Given the description of an element on the screen output the (x, y) to click on. 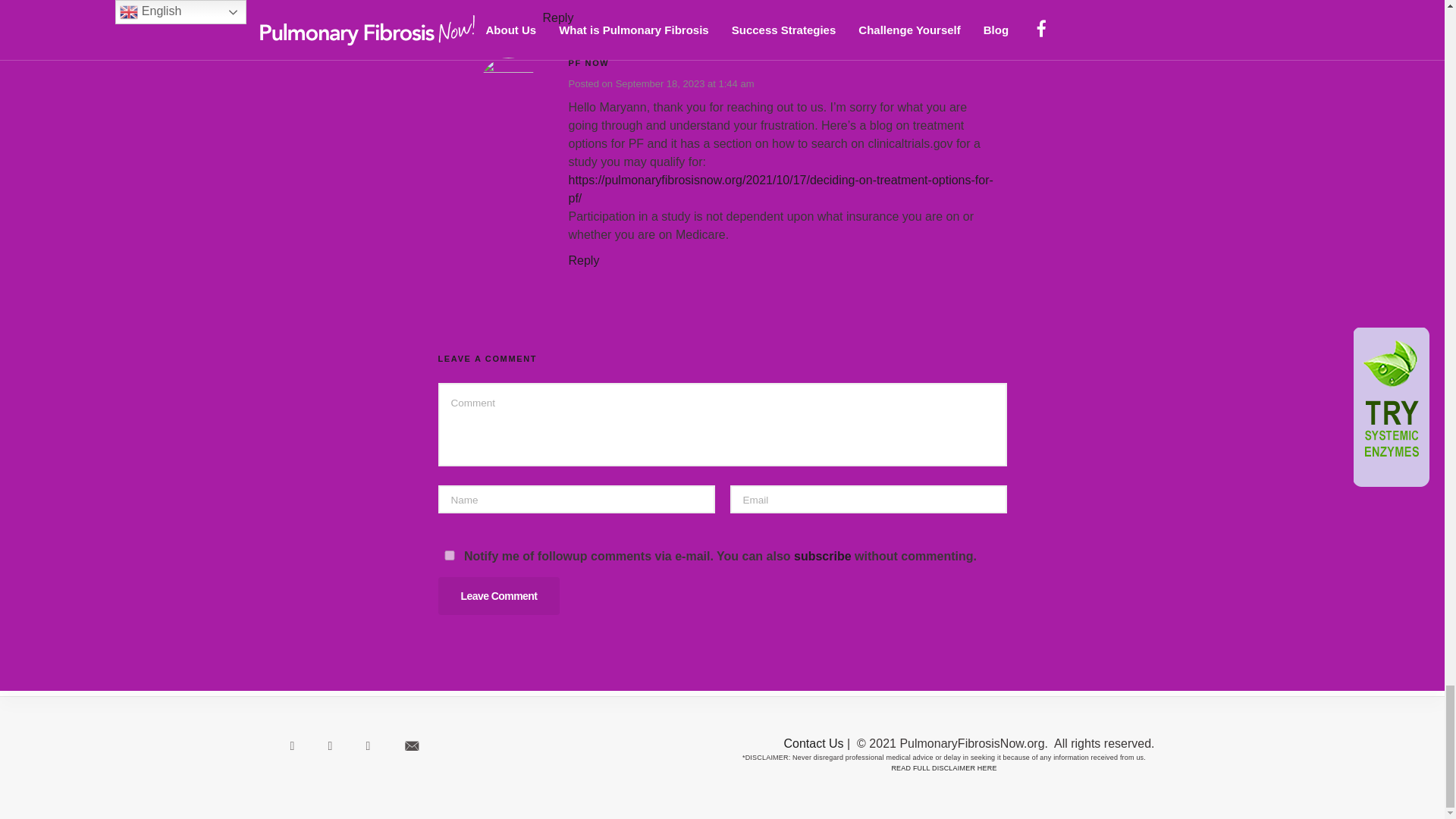
yes (449, 555)
Leave Comment (499, 596)
